Given the description of an element on the screen output the (x, y) to click on. 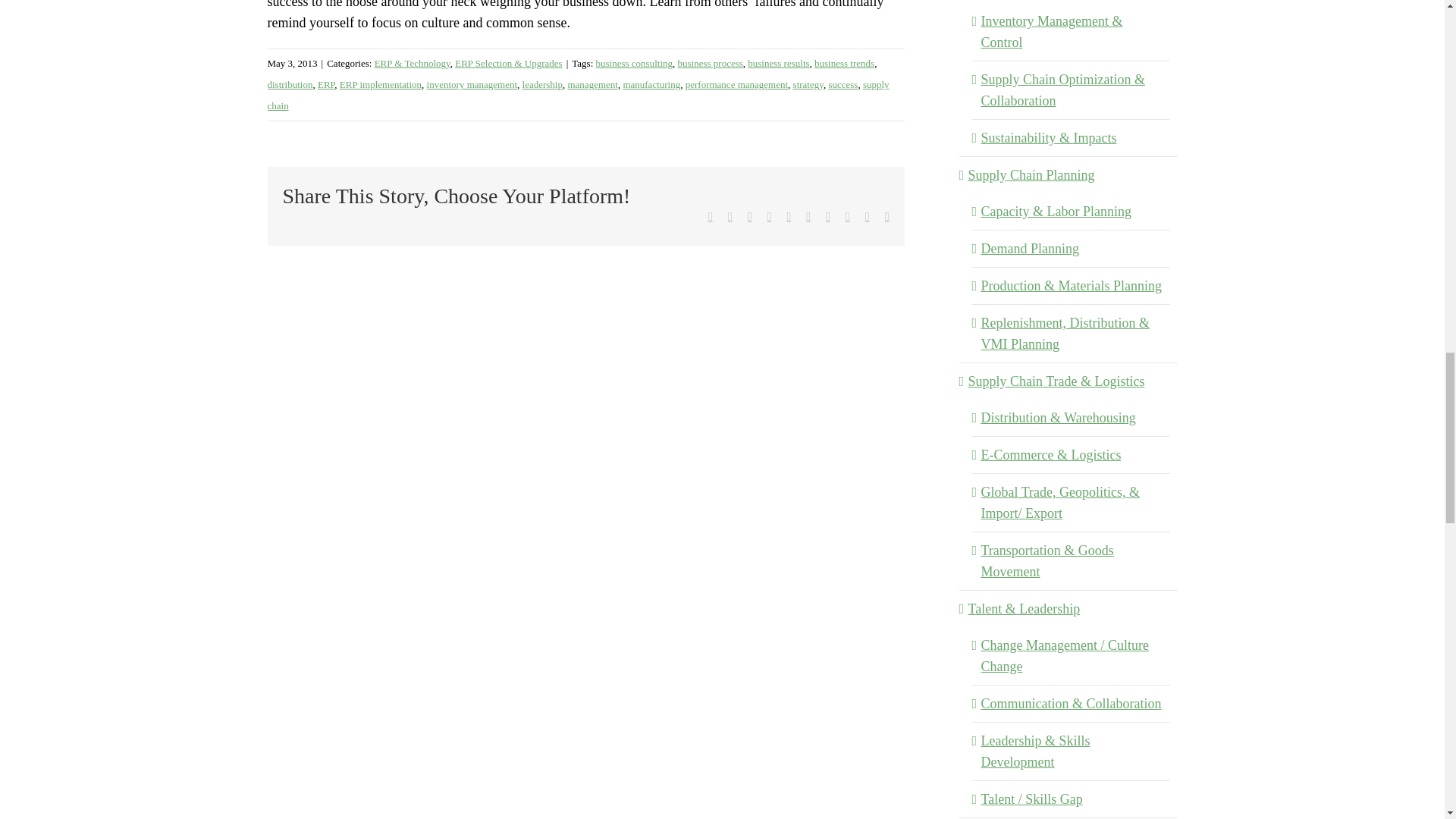
business consulting (633, 62)
business process (710, 62)
business results (778, 62)
business trends (844, 62)
